Given the description of an element on the screen output the (x, y) to click on. 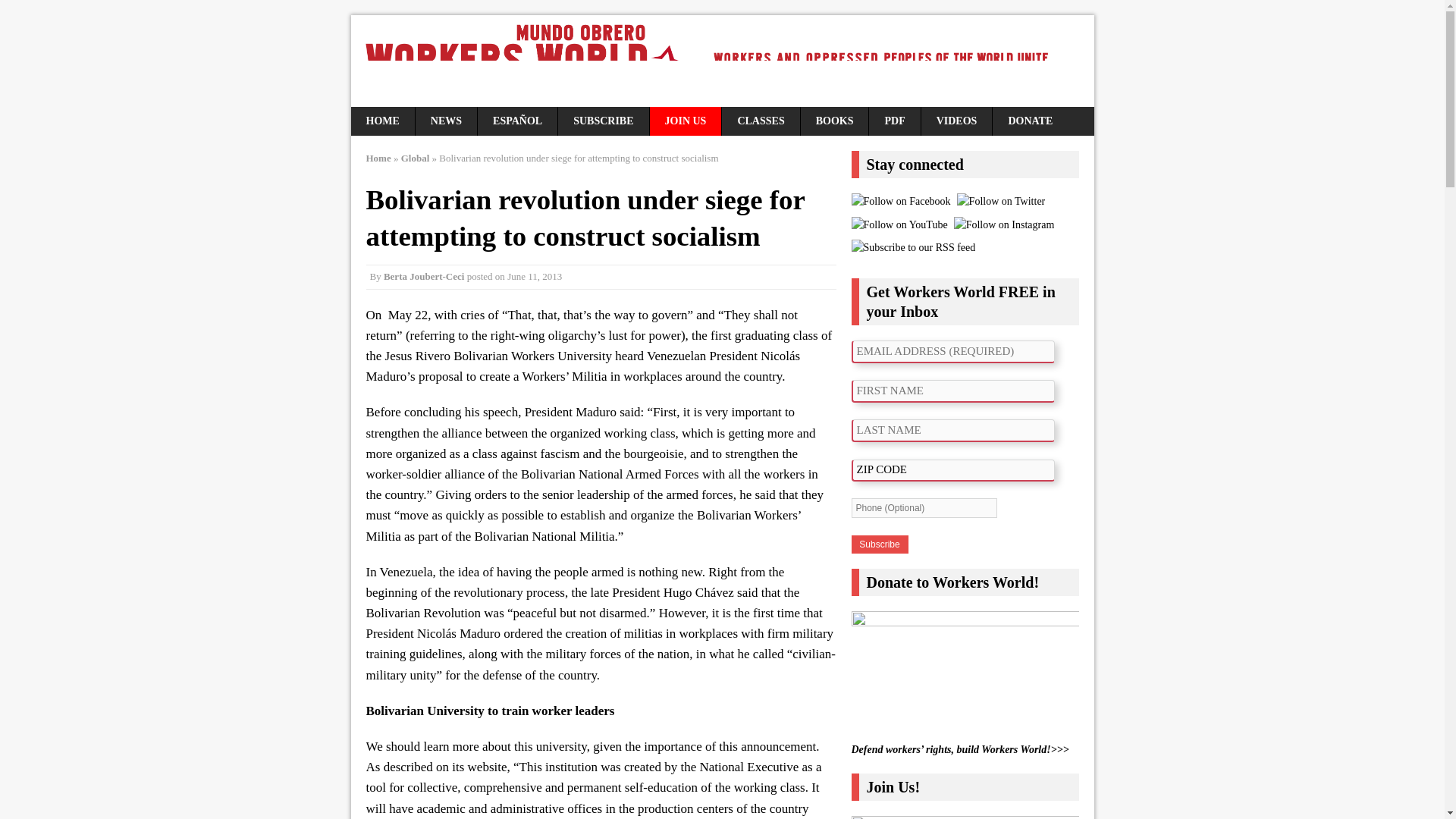
JOIN US (685, 121)
CLASSES (760, 121)
HOME (381, 121)
Workers World (721, 61)
PDF (894, 121)
BOOKS (834, 121)
Subscribe (878, 544)
SUBSCRIBE (602, 121)
NEWS (445, 121)
